Given the description of an element on the screen output the (x, y) to click on. 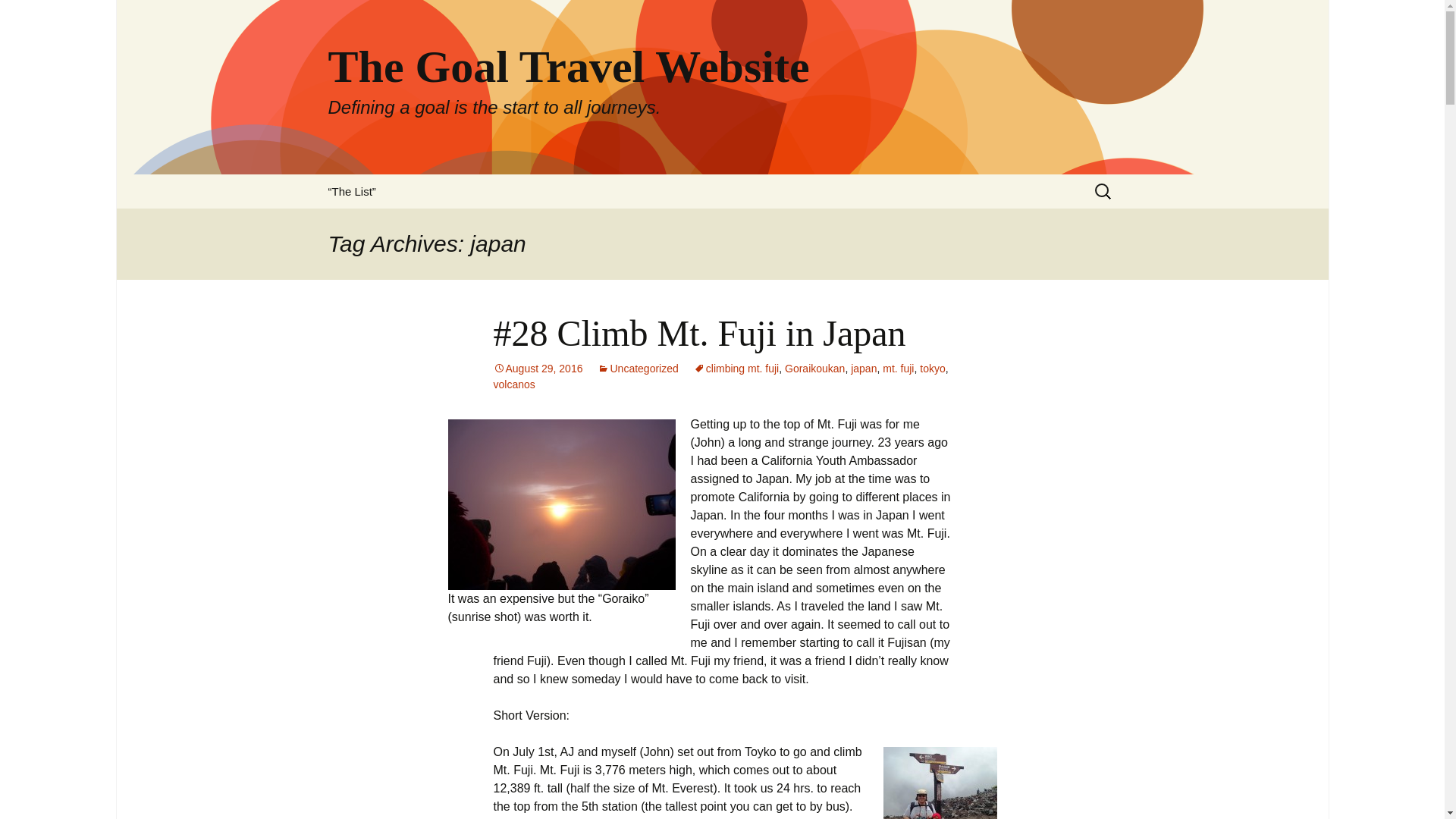
mt. fuji (898, 368)
Uncategorized (637, 368)
August 29, 2016 (537, 368)
japan (863, 368)
volcanos (513, 384)
climbing mt. fuji (736, 368)
tokyo (932, 368)
Search (18, 15)
Goraikoukan (814, 368)
